Given the description of an element on the screen output the (x, y) to click on. 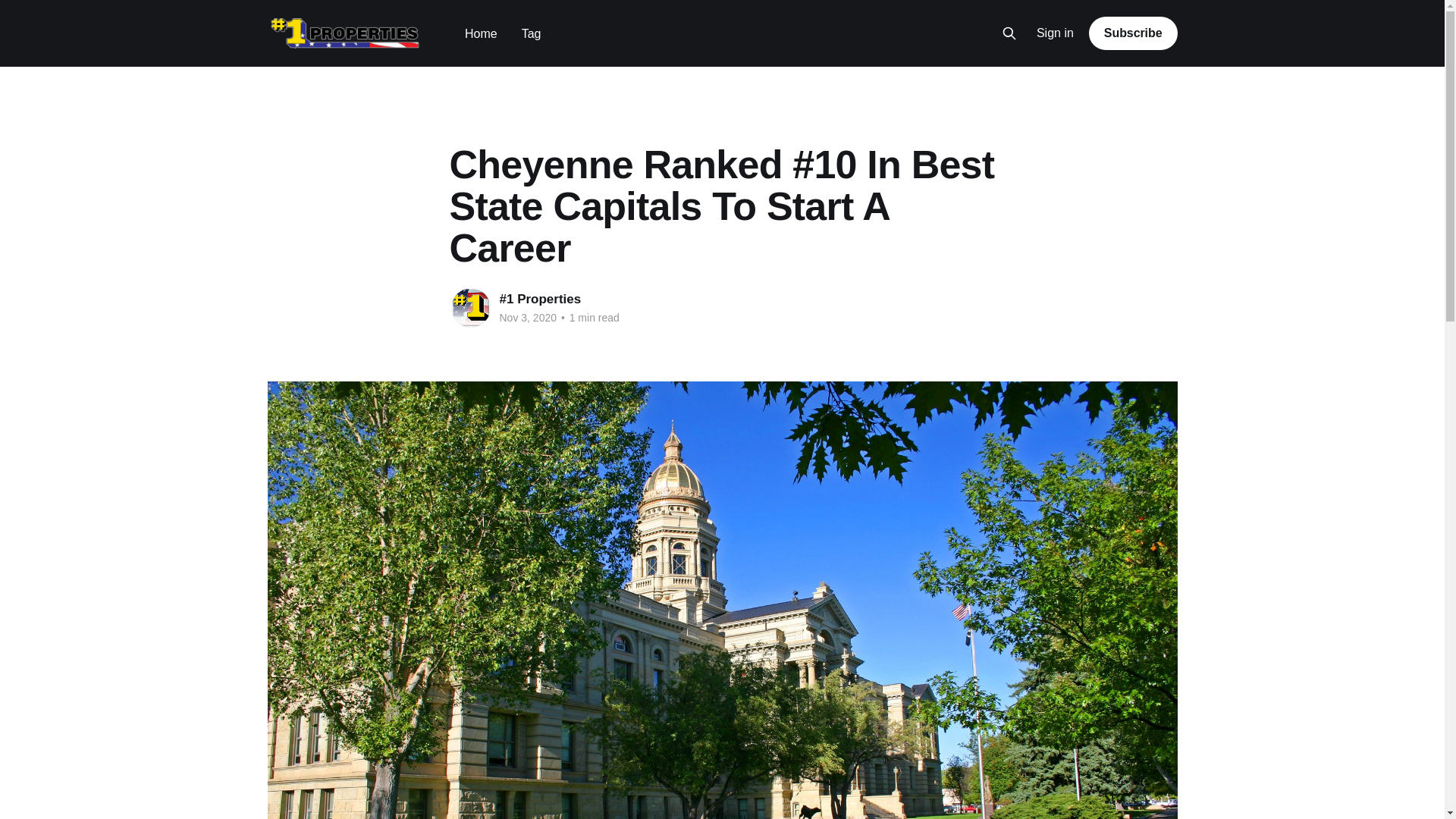
Tag (531, 33)
Subscribe (1133, 32)
Home (480, 33)
Sign in (1055, 33)
